Given the description of an element on the screen output the (x, y) to click on. 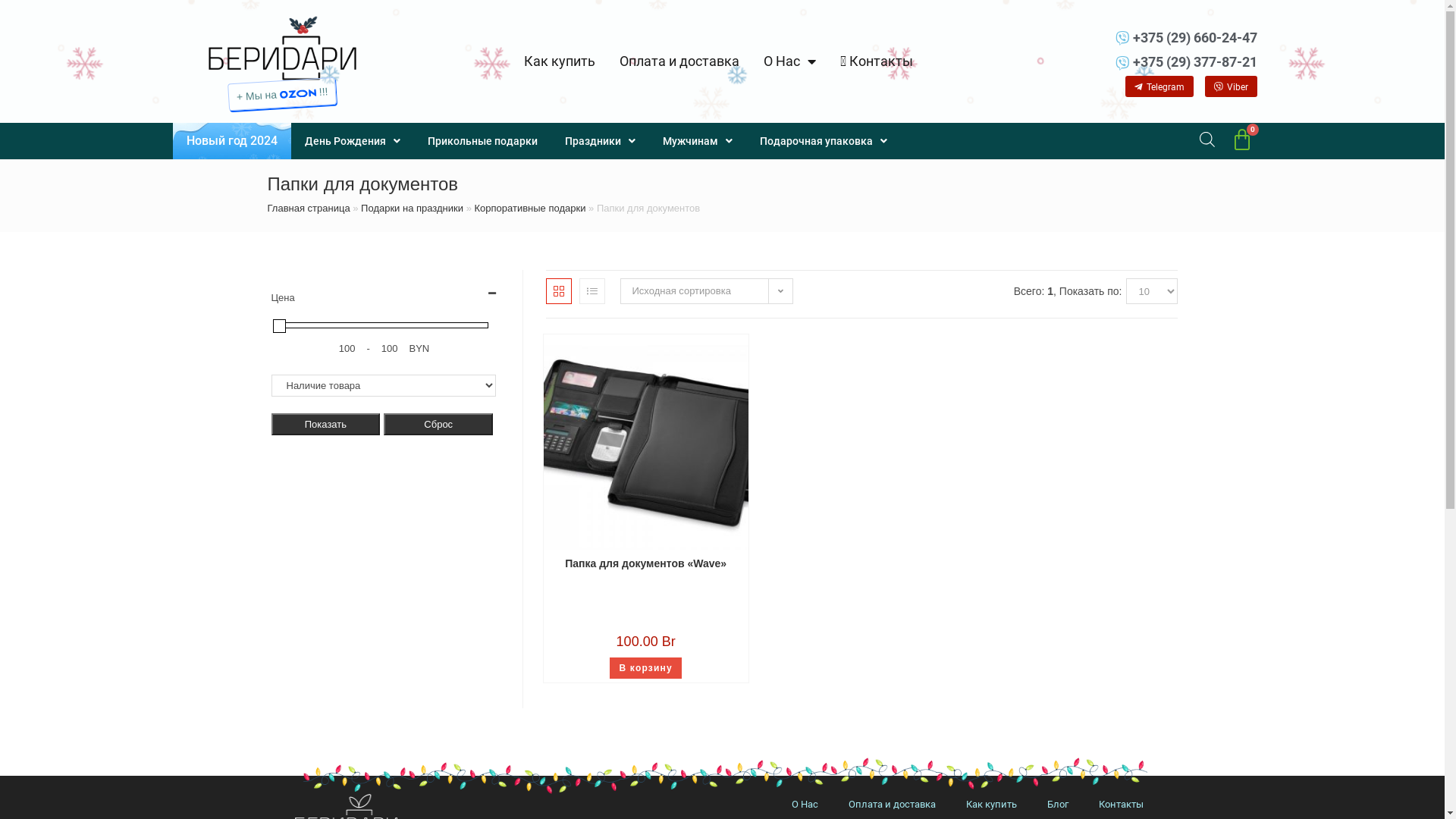
Viber Element type: text (1230, 86)
+375 (29) 377-87-21 Element type: text (1154, 62)
+375 (29) 660-24-47 Element type: text (1154, 37)
Telegram Element type: text (1159, 86)
